Given the description of an element on the screen output the (x, y) to click on. 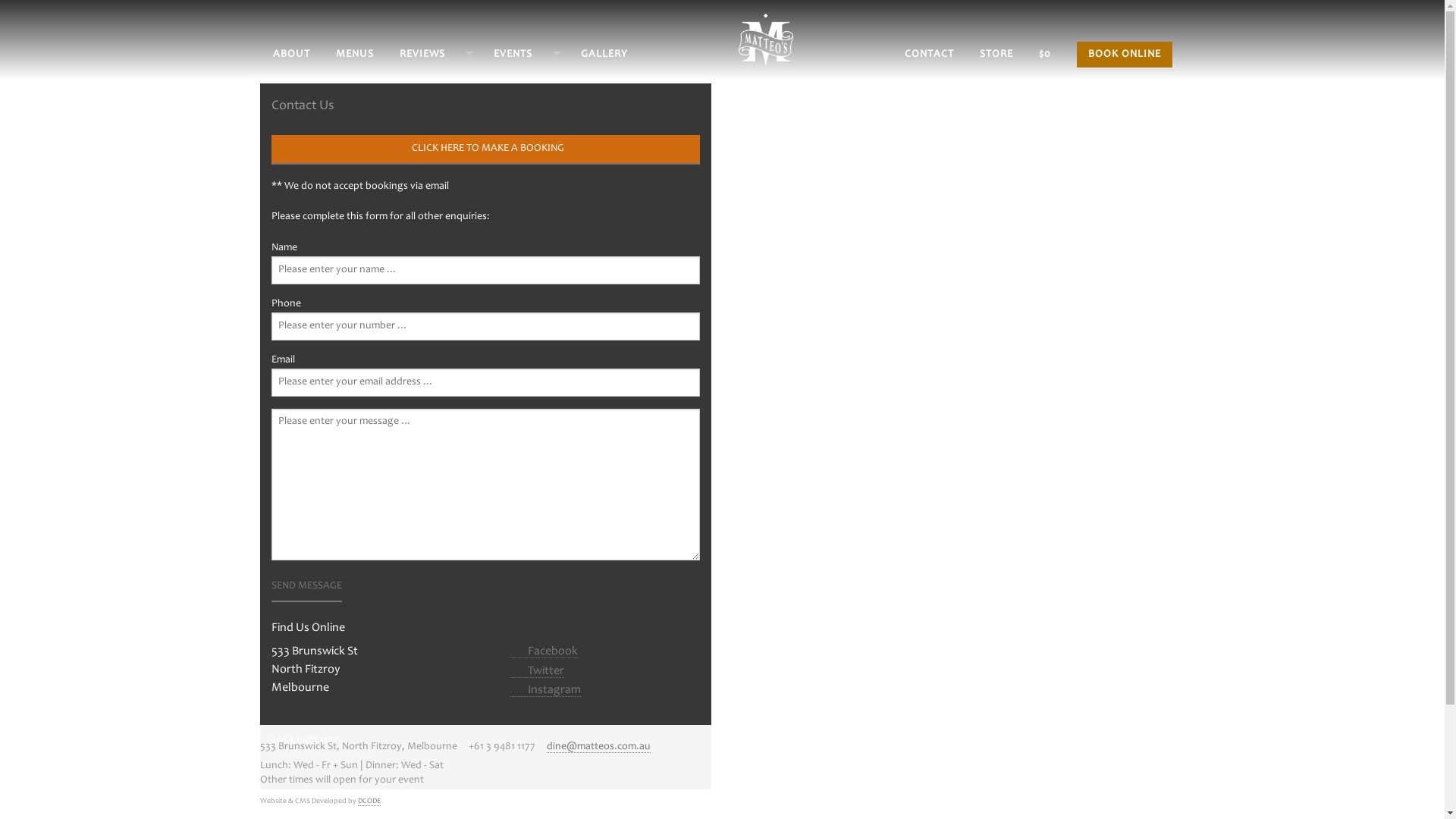
REVIEWS Element type: text (432, 56)
OUR EVENTS Element type: text (575, 80)
GALLERY Element type: text (603, 56)
STORE Element type: text (996, 56)
dine@matteos.com.au Element type: text (597, 747)
EVENTS Element type: text (523, 56)
MENUS Element type: text (354, 56)
Facebook Element type: text (543, 651)
Send Message Element type: text (306, 587)
BOOK ONLINE Element type: text (1124, 54)
ABOUT Element type: text (291, 56)
YOUR EVENT Element type: text (575, 113)
$0 Element type: text (1044, 56)
Instagram Element type: text (545, 690)
dine@matteos.com.au Element type: text (323, 755)
Twitter Element type: text (537, 671)
CONTACT Element type: text (928, 56)
CUSTOMER REVIEWS Element type: text (481, 113)
  CLICK HERE TO MAKE A BOOKING Element type: text (485, 149)
PROFESSIONAL REVIEWS Element type: text (481, 80)
DCODE Element type: text (368, 801)
